Given the description of an element on the screen output the (x, y) to click on. 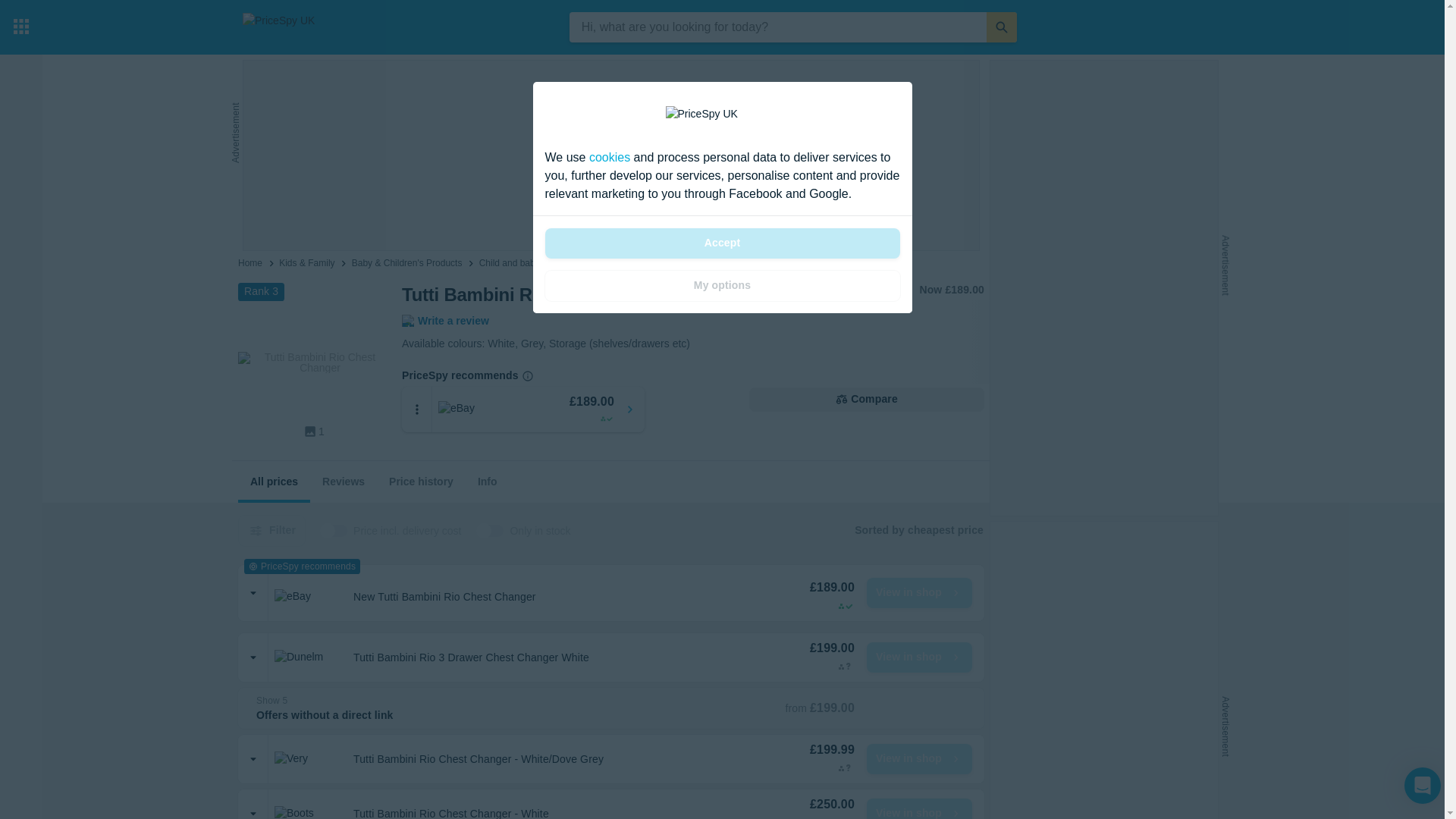
Write a review (445, 320)
Reviews (343, 481)
Compare (866, 399)
Info (487, 481)
Price history (421, 481)
Rank 3 (260, 291)
Child and baby accessories (535, 262)
Filter (271, 530)
All prices (274, 481)
